Given the description of an element on the screen output the (x, y) to click on. 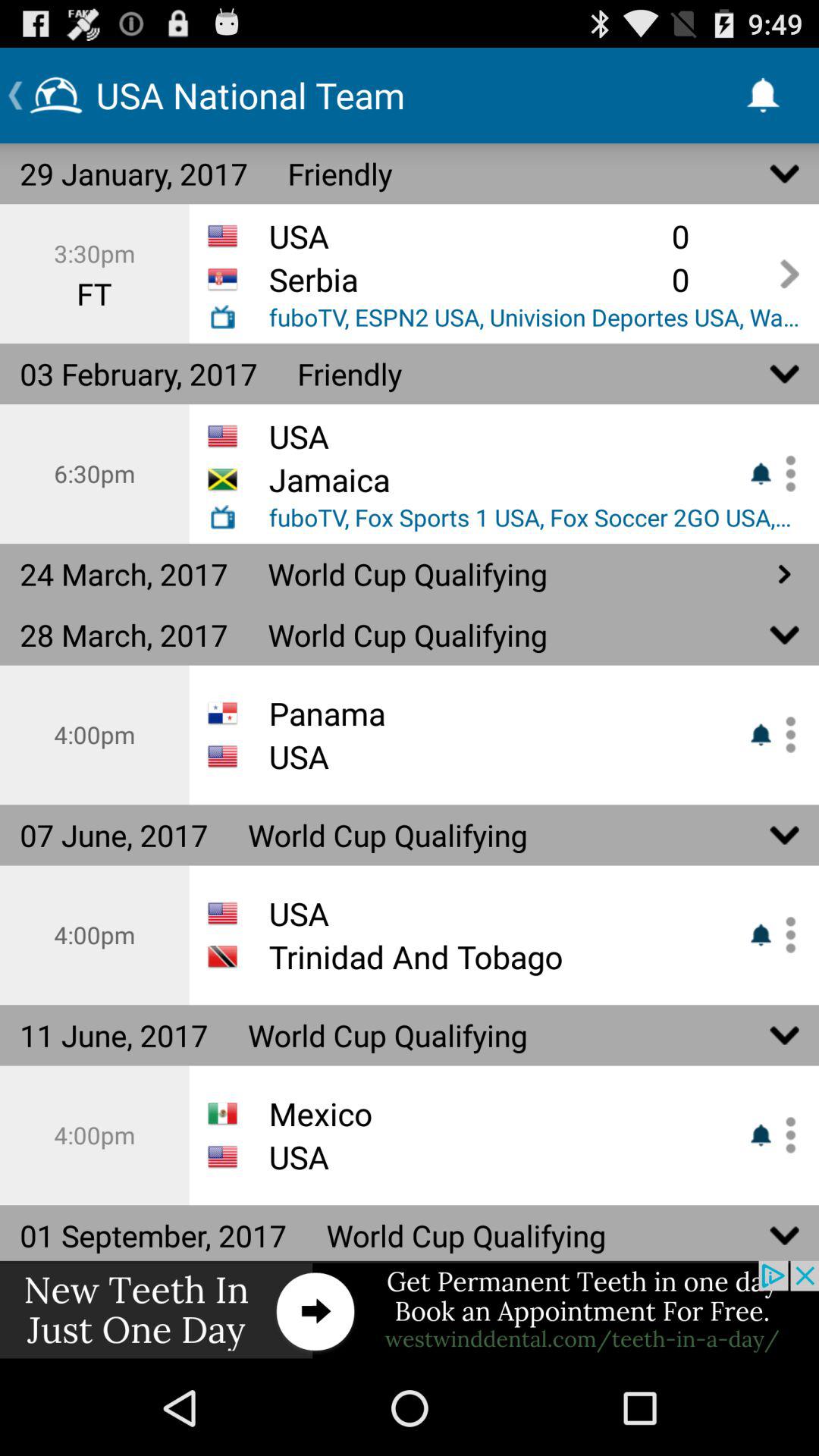
details about advertisement (409, 1310)
